Given the description of an element on the screen output the (x, y) to click on. 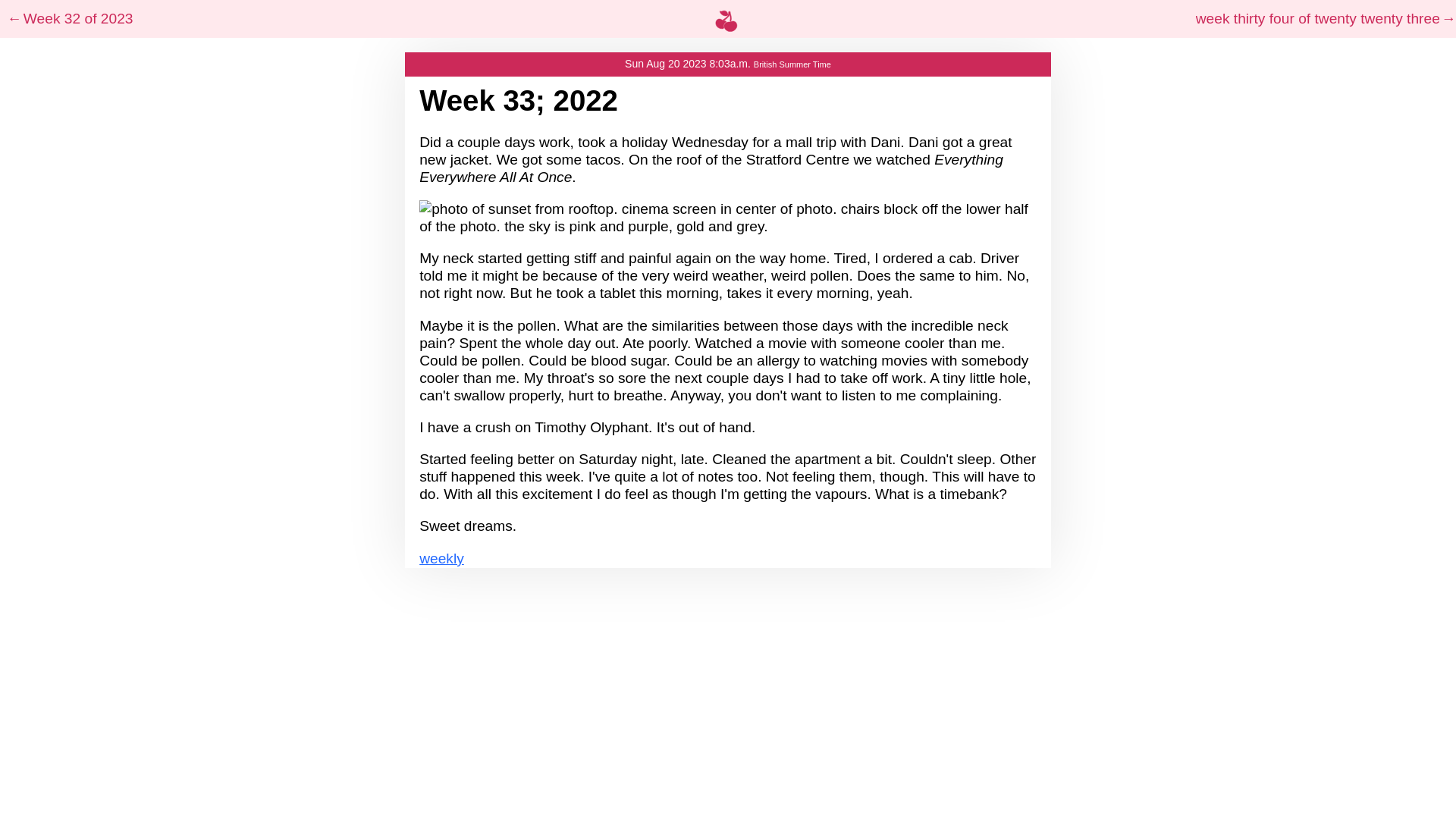
Sun Aug 20 2023 8:03a.m. British Summer Time (727, 64)
weekly (441, 558)
go back to Week 32 of 2023 (70, 18)
